Given the description of an element on the screen output the (x, y) to click on. 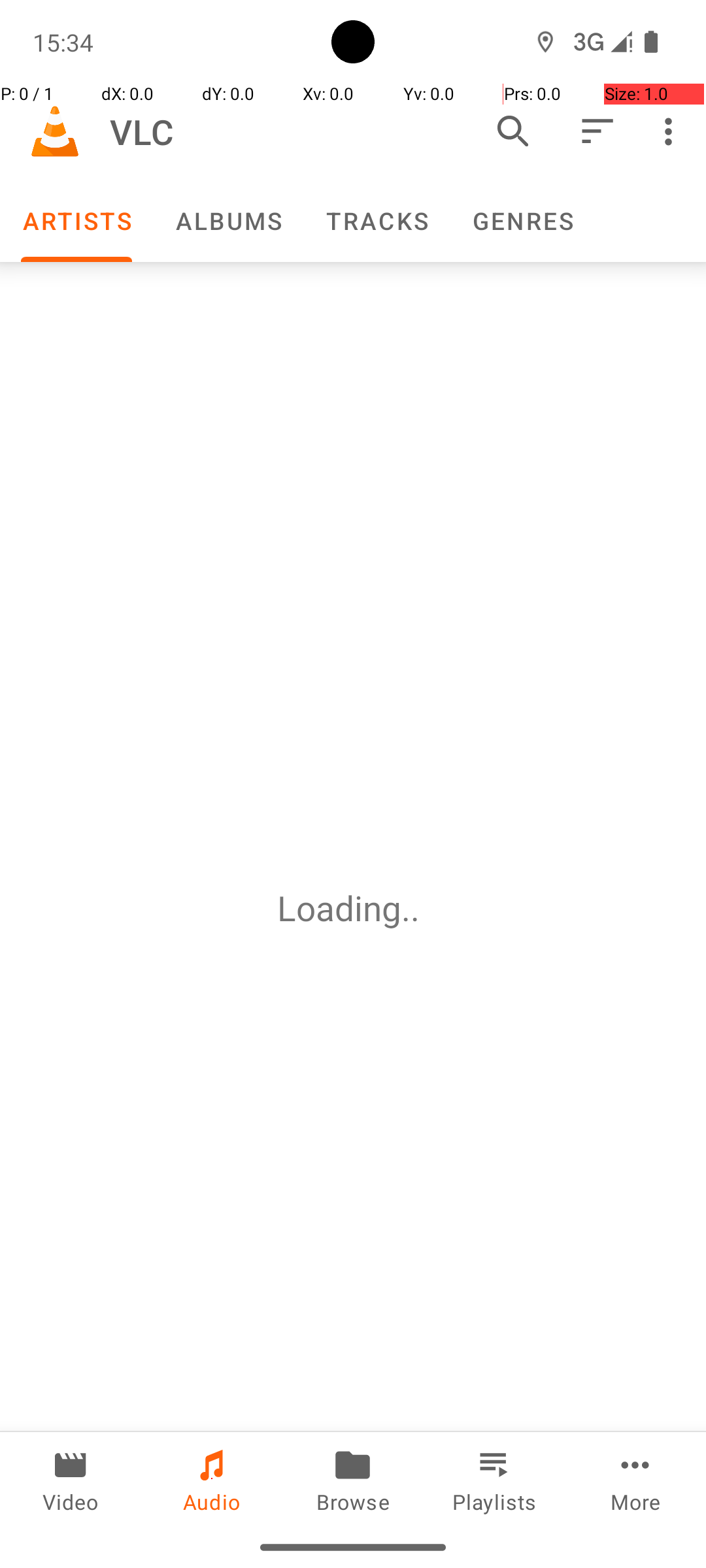
Sort by… Element type: android.widget.TextView (595, 131)
Loading Element type: android.widget.TextView (339, 907)
.. Element type: android.widget.TextView (414, 907)
Tracks Element type: android.widget.LinearLayout (376, 220)
Genres Element type: android.widget.LinearLayout (521, 220)
Video Element type: android.widget.FrameLayout (70, 1478)
Browse Element type: android.widget.FrameLayout (352, 1478)
ARTISTS Element type: android.widget.TextView (76, 220)
ALBUMS Element type: android.widget.TextView (227, 220)
TRACKS Element type: android.widget.TextView (376, 220)
GENRES Element type: android.widget.TextView (521, 220)
